Given the description of an element on the screen output the (x, y) to click on. 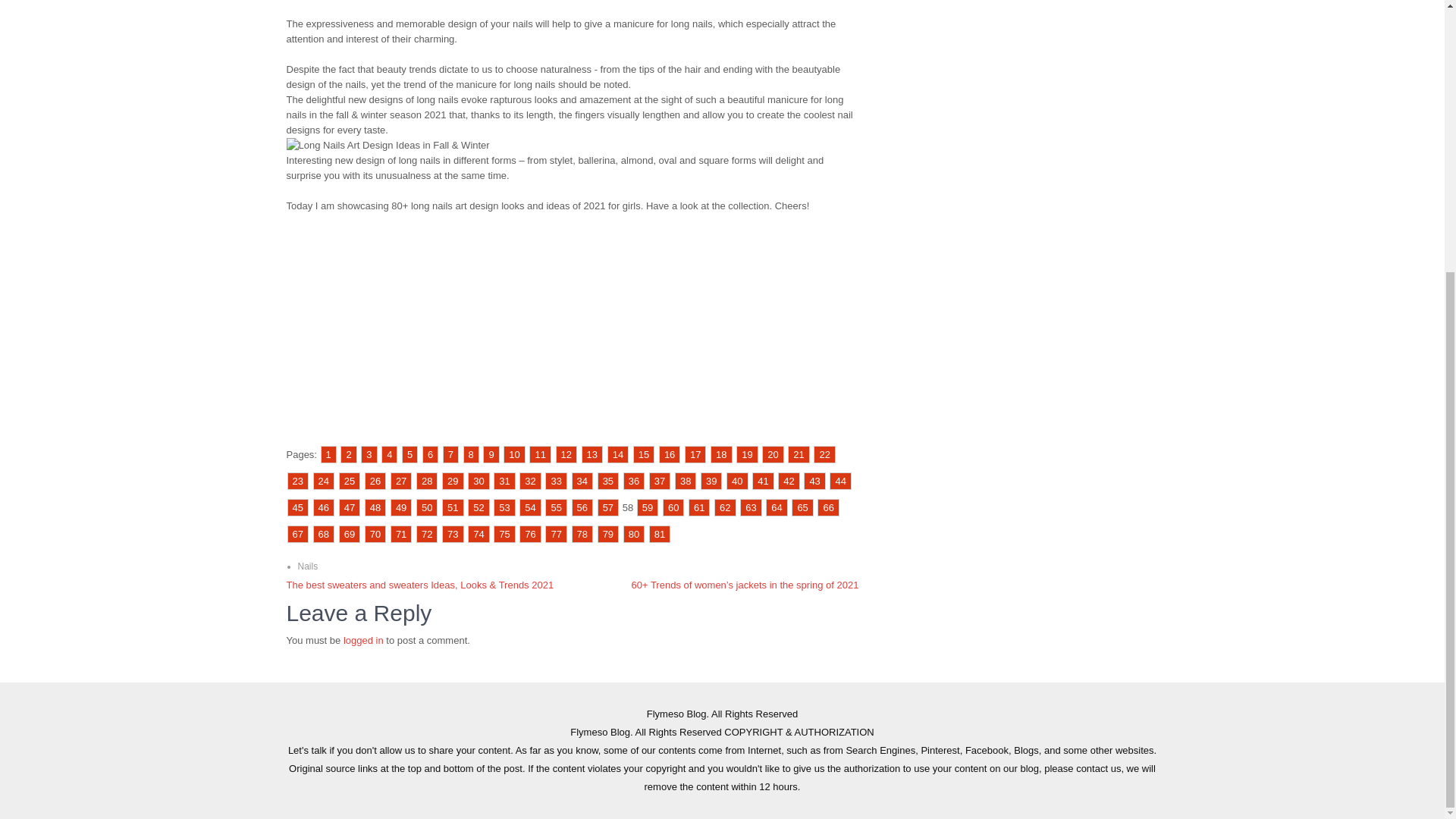
5 (409, 454)
21 (798, 454)
31 (504, 480)
19 (746, 454)
17 (695, 454)
14 (617, 454)
Advertisement (572, 6)
20 (772, 454)
8 (471, 454)
2 (348, 454)
30 (478, 480)
28 (427, 480)
13 (591, 454)
12 (566, 454)
26 (375, 480)
